Given the description of an element on the screen output the (x, y) to click on. 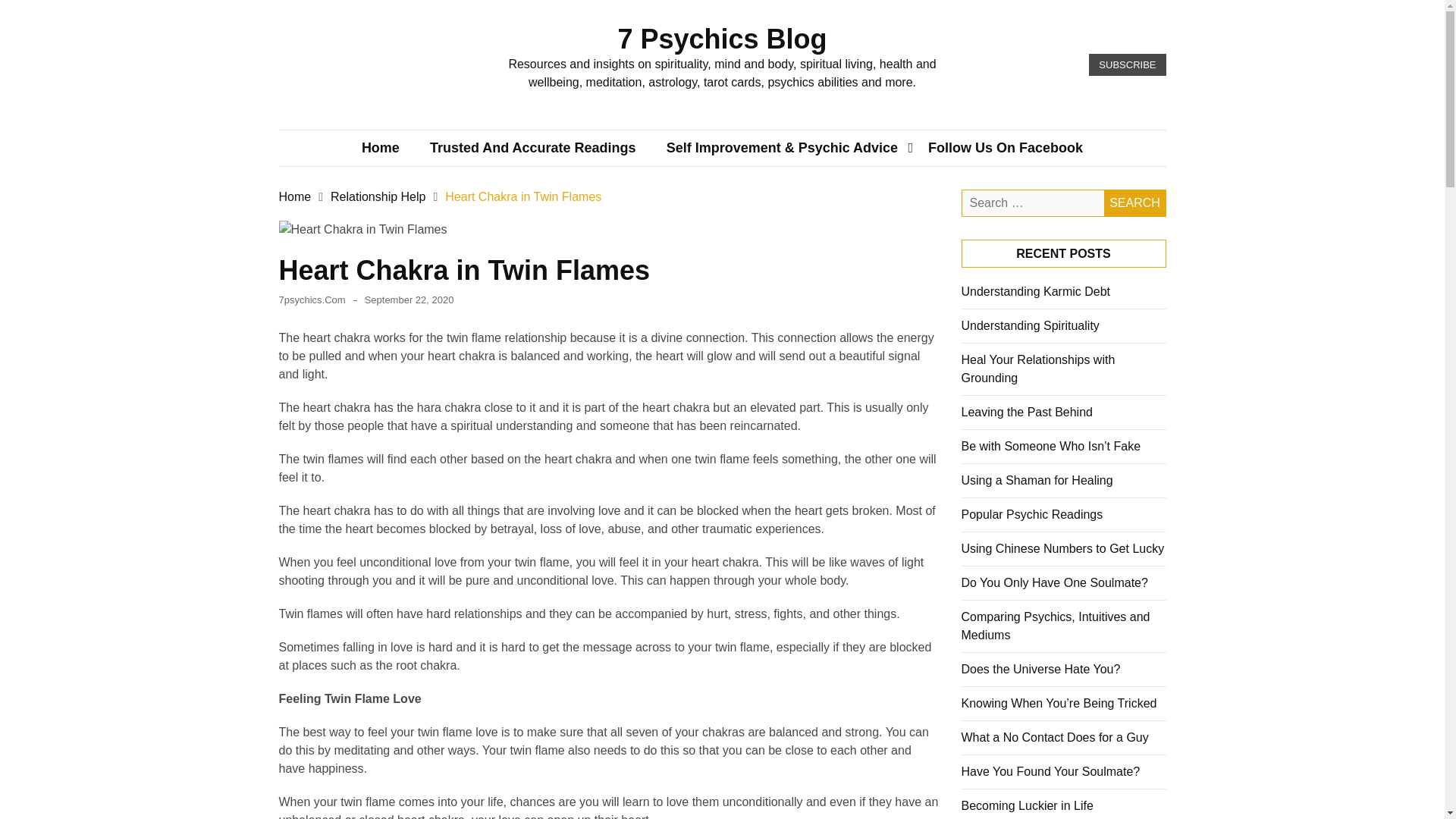
7psychics.Com (312, 299)
Home (295, 196)
7 Psychics Blog (722, 38)
Trusted And Accurate Readings (532, 148)
Search (1134, 203)
Home (380, 148)
Heart Chakra in Twin Flames (523, 196)
September 22, 2020 (409, 299)
Search (1134, 203)
Follow Us On Facebook (1004, 148)
